Given the description of an element on the screen output the (x, y) to click on. 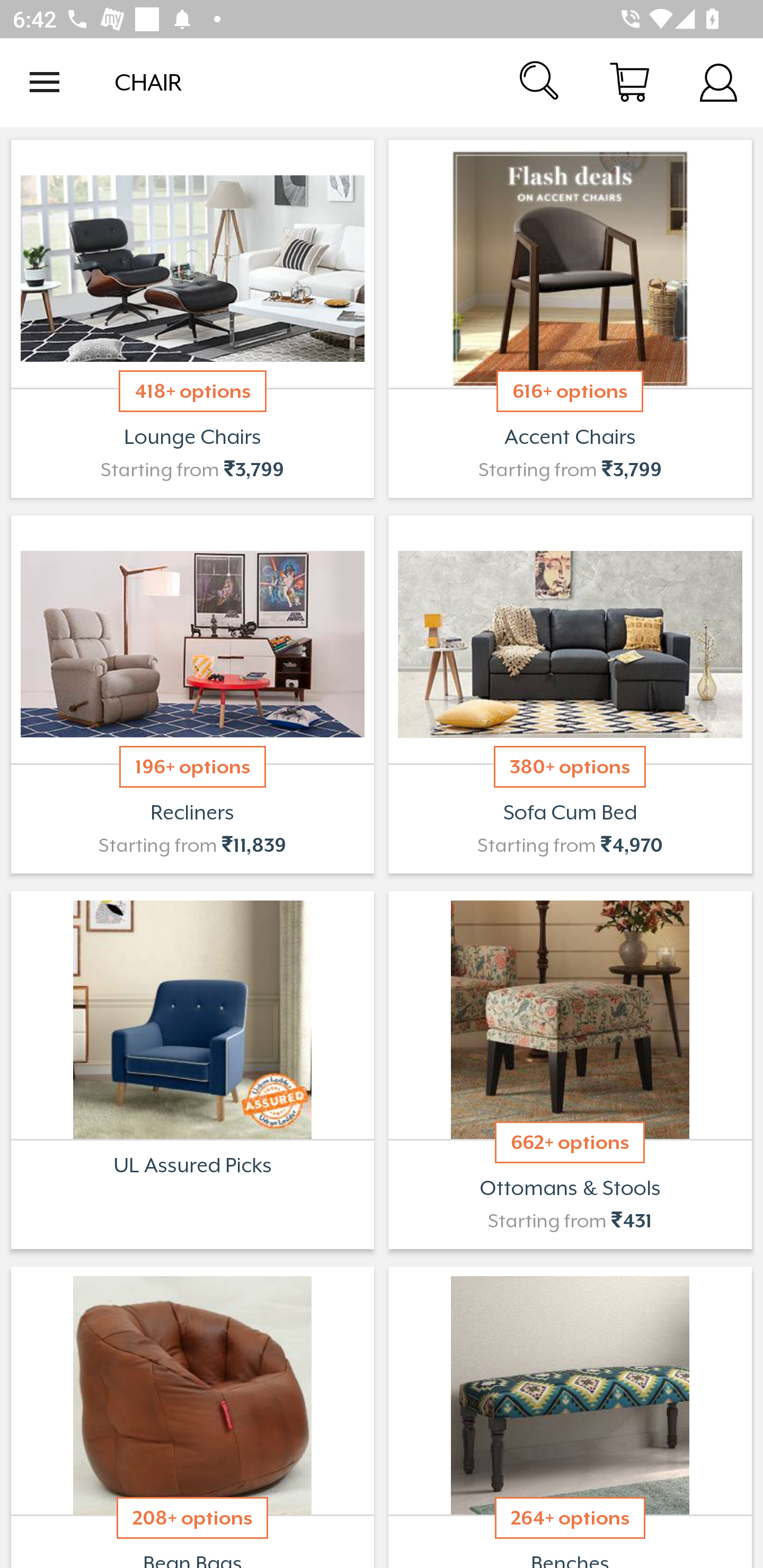
Open navigation drawer (44, 82)
Search (540, 81)
Cart (629, 81)
Account Details (718, 81)
418+ options Lounge Chairs Starting from  ₹3,799 (191, 318)
616+ options Accent Chairs Starting from  ₹3,799 (570, 318)
196+ options Recliners Starting from  ₹11,839 (191, 694)
380+ options Sofa Cum Bed Starting from  ₹4,970 (570, 694)
UL Assured Picks (191, 1069)
662+ options Ottomans & Stools Starting from  ₹431 (570, 1069)
208+ options Bean Bags (191, 1415)
264+ options Benches (570, 1415)
